Given the description of an element on the screen output the (x, y) to click on. 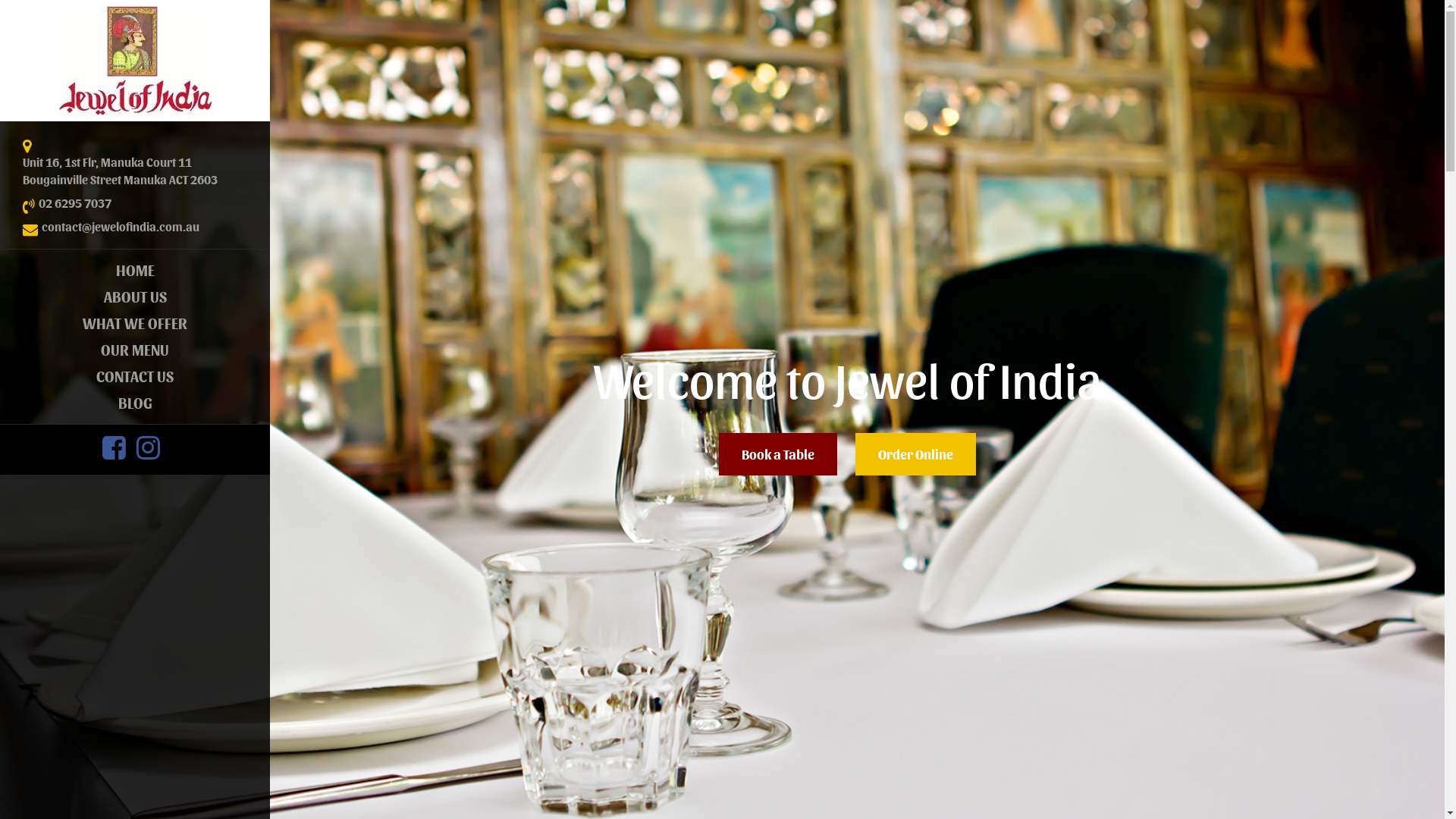
OUR MENU Element type: text (134, 349)
02 6295 7037 Element type: text (74, 203)
Jewel of India  Element type: hover (134, 60)
contact@jewelofindia.com.au Element type: text (120, 226)
HOME Element type: text (134, 270)
WHAT WE OFFER Element type: text (134, 323)
Book a Table Element type: text (777, 454)
BLOG Element type: text (134, 402)
Order Online Element type: text (915, 454)
ABOUT US Element type: text (134, 296)
CONTACT US Element type: text (134, 376)
